Given the description of an element on the screen output the (x, y) to click on. 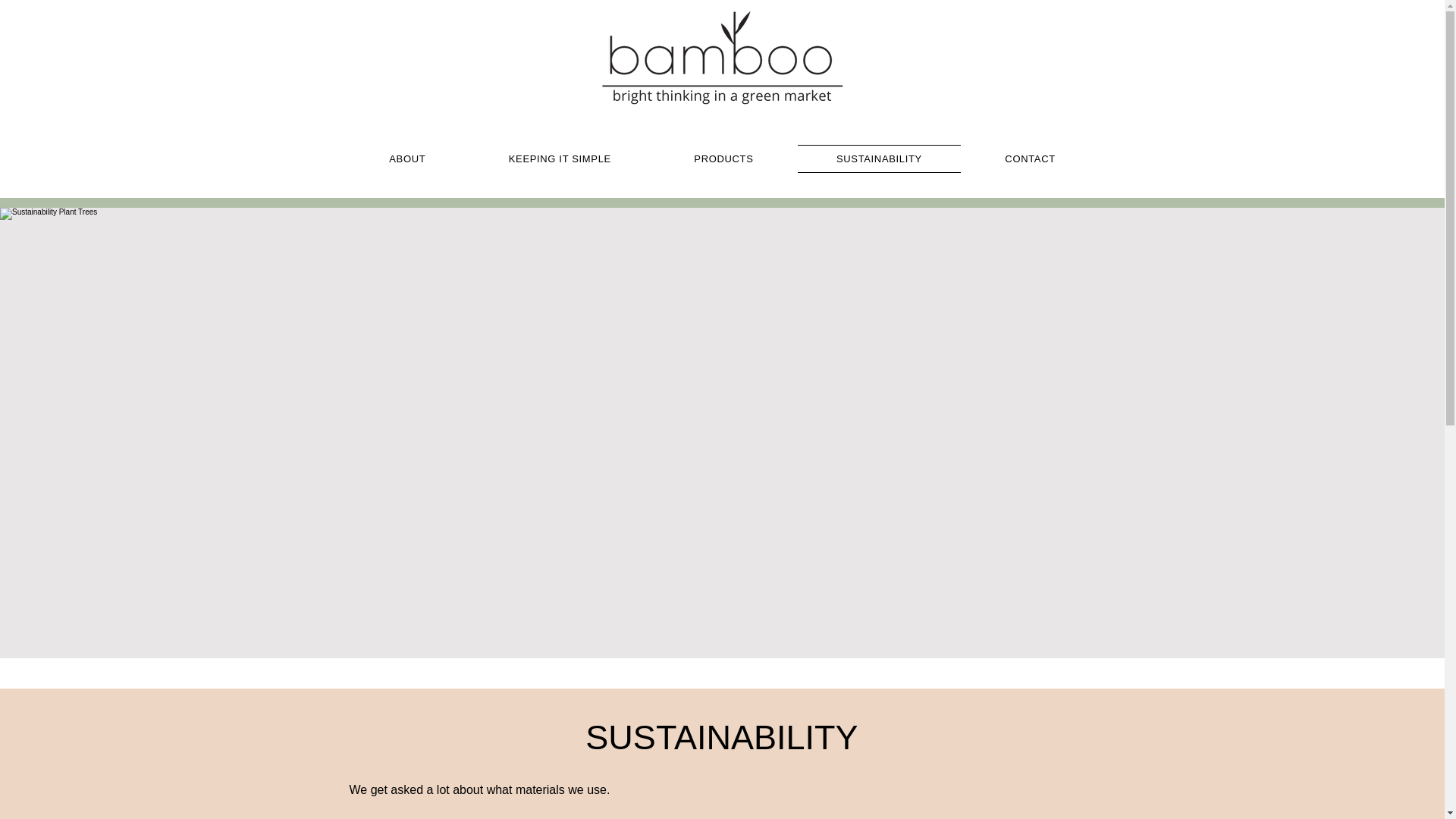
PRODUCTS (724, 158)
ABOUT (407, 158)
CONTACT (1030, 158)
KEEPING IT SIMPLE (559, 158)
Bamboo Prints (722, 57)
SUSTAINABILITY (878, 158)
